Given the description of an element on the screen output the (x, y) to click on. 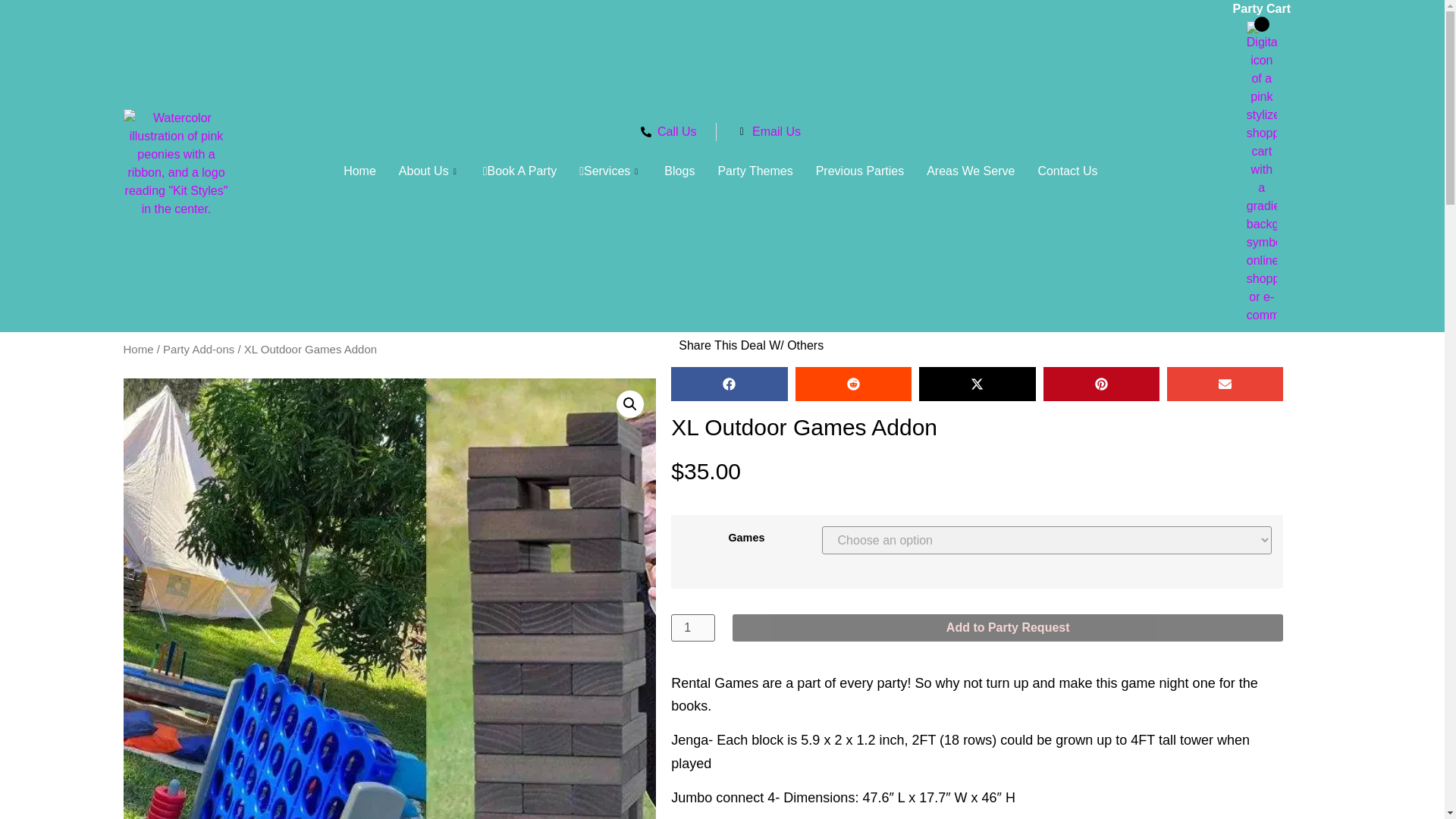
Home (359, 170)
Email Us (768, 131)
Previous Parties (860, 170)
About Us (429, 170)
Party Themes (754, 170)
Services - Slumberr Party (609, 170)
Areas We Serve (970, 170)
1 (692, 627)
Contact Us (1067, 170)
Call Us (668, 131)
